Given the description of an element on the screen output the (x, y) to click on. 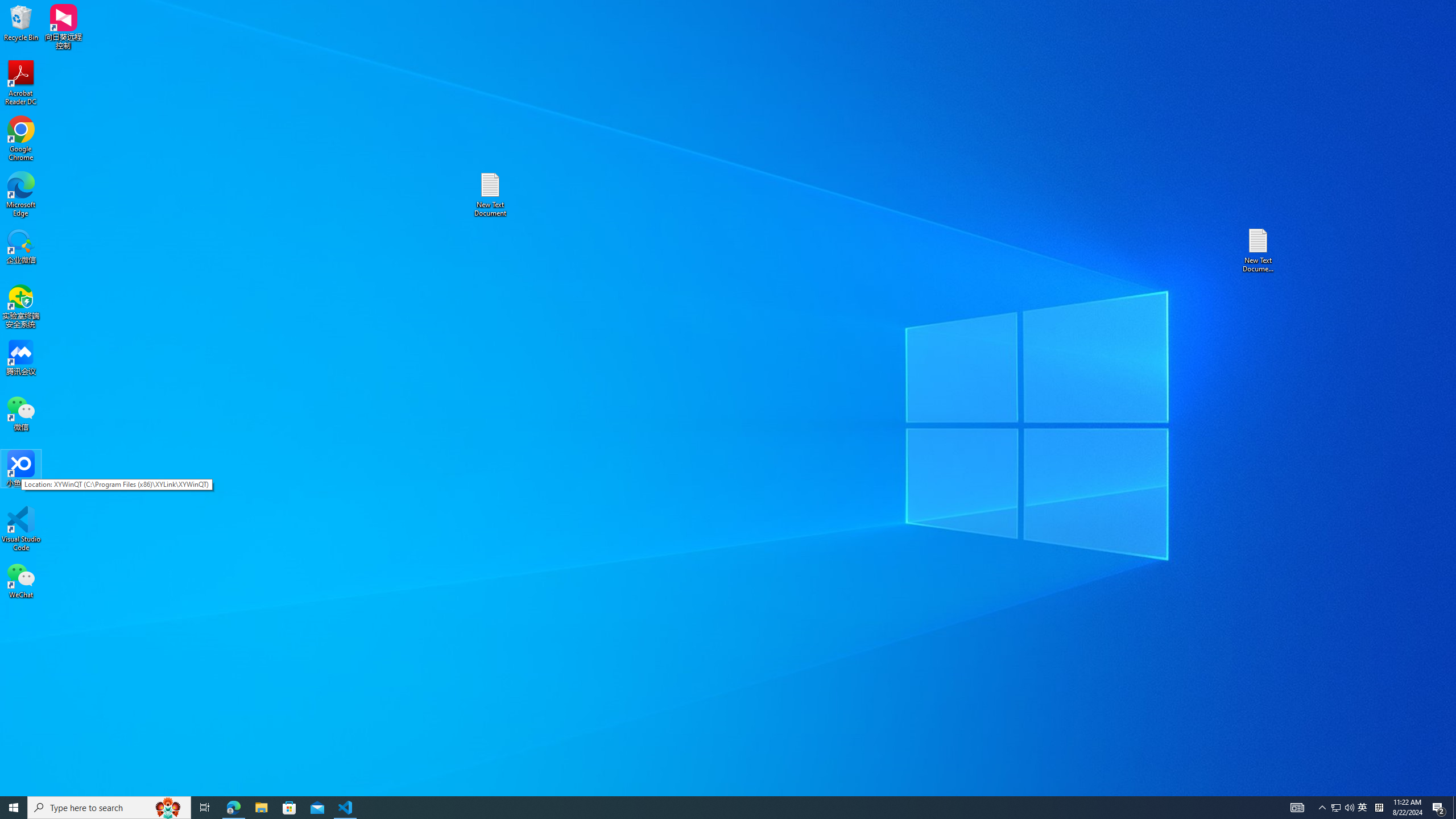
Notification Chevron (1322, 807)
Recycle Bin (21, 22)
Acrobat Reader DC (21, 82)
Tray Input Indicator - Chinese (Simplified, China) (1378, 807)
Action Center, 2 new notifications (1439, 807)
Visual Studio Code - 1 running window (345, 807)
File Explorer (261, 807)
New Text Document (2) (1258, 250)
User Promoted Notification Area (1342, 807)
Q2790: 100% (1349, 807)
Microsoft Edge - 1 running window (233, 807)
New Text Document (489, 194)
Running applications (707, 807)
